Given the description of an element on the screen output the (x, y) to click on. 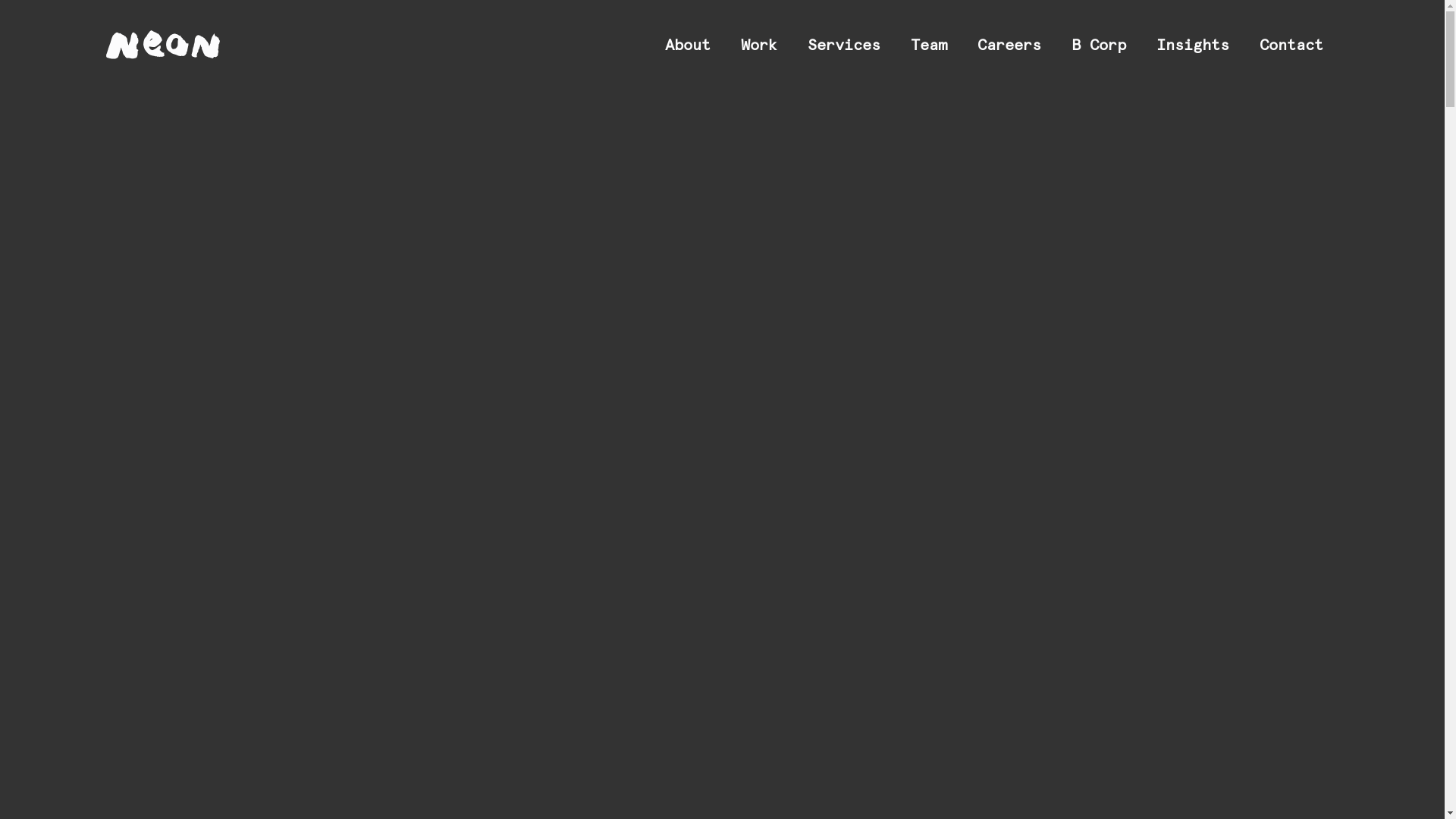
Careers Element type: text (1009, 45)
Services Element type: text (79, 287)
B Corp Element type: text (1098, 45)
Insights Element type: text (1192, 45)
Team Element type: text (928, 45)
Work Element type: text (60, 225)
Work Element type: text (758, 45)
About Element type: text (65, 162)
Team Element type: text (60, 349)
Contact Element type: text (77, 598)
About Element type: text (687, 45)
B Corp Element type: text (70, 473)
Contact Element type: text (1291, 45)
Insights Element type: text (74, 536)
Careers Element type: text (76, 411)
Services Element type: text (843, 45)
Home Element type: text (162, 44)
